Given the description of an element on the screen output the (x, y) to click on. 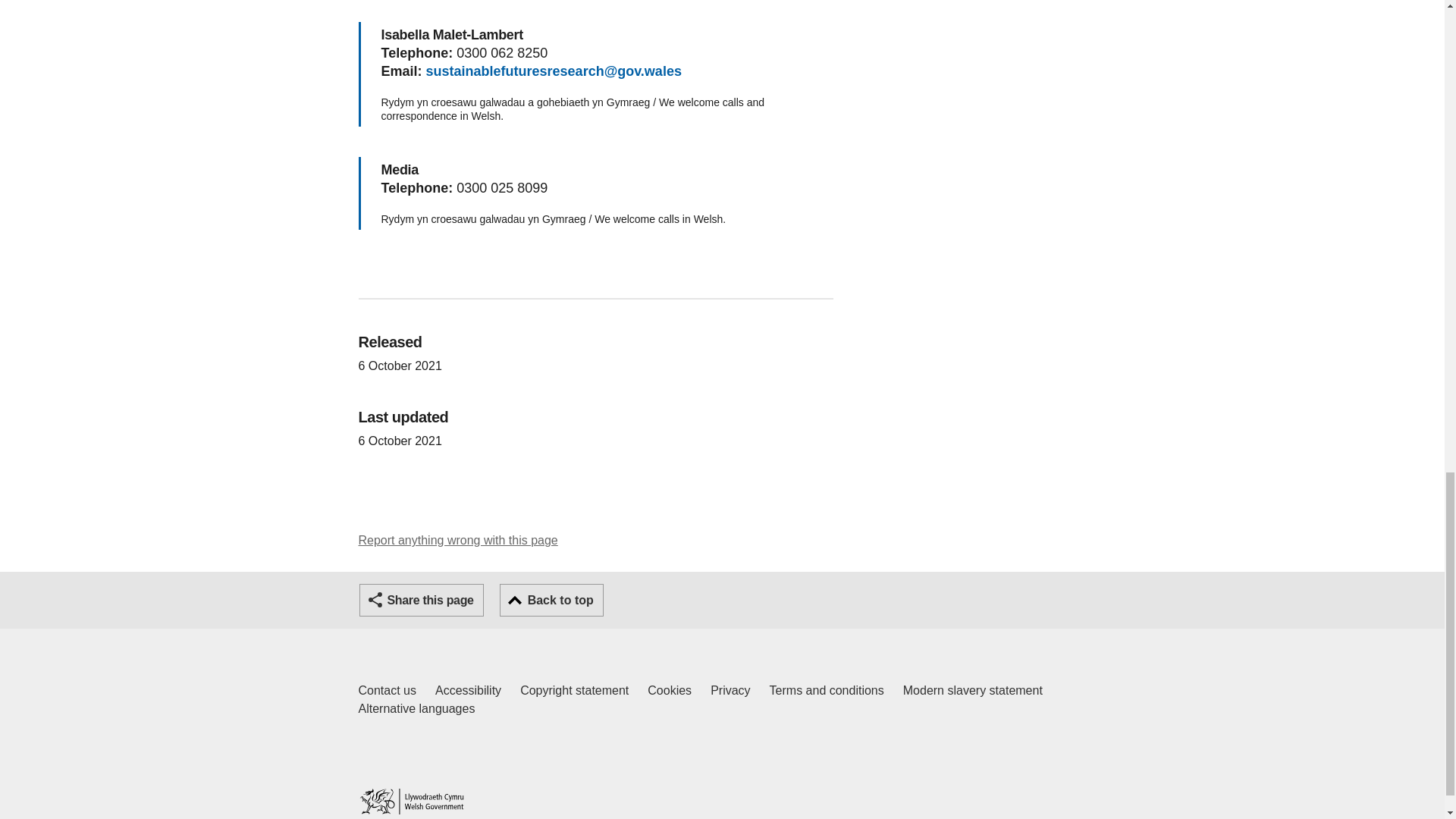
Back to top (551, 599)
Report anything wrong with this page (457, 540)
Home (411, 801)
Share this page (421, 599)
Privacy (729, 690)
Modern slavery statement (972, 690)
Copyright statement (573, 690)
Cookies (669, 690)
Accessibility (467, 690)
Alternative languages (416, 709)
Terms and conditions (386, 690)
